Given the description of an element on the screen output the (x, y) to click on. 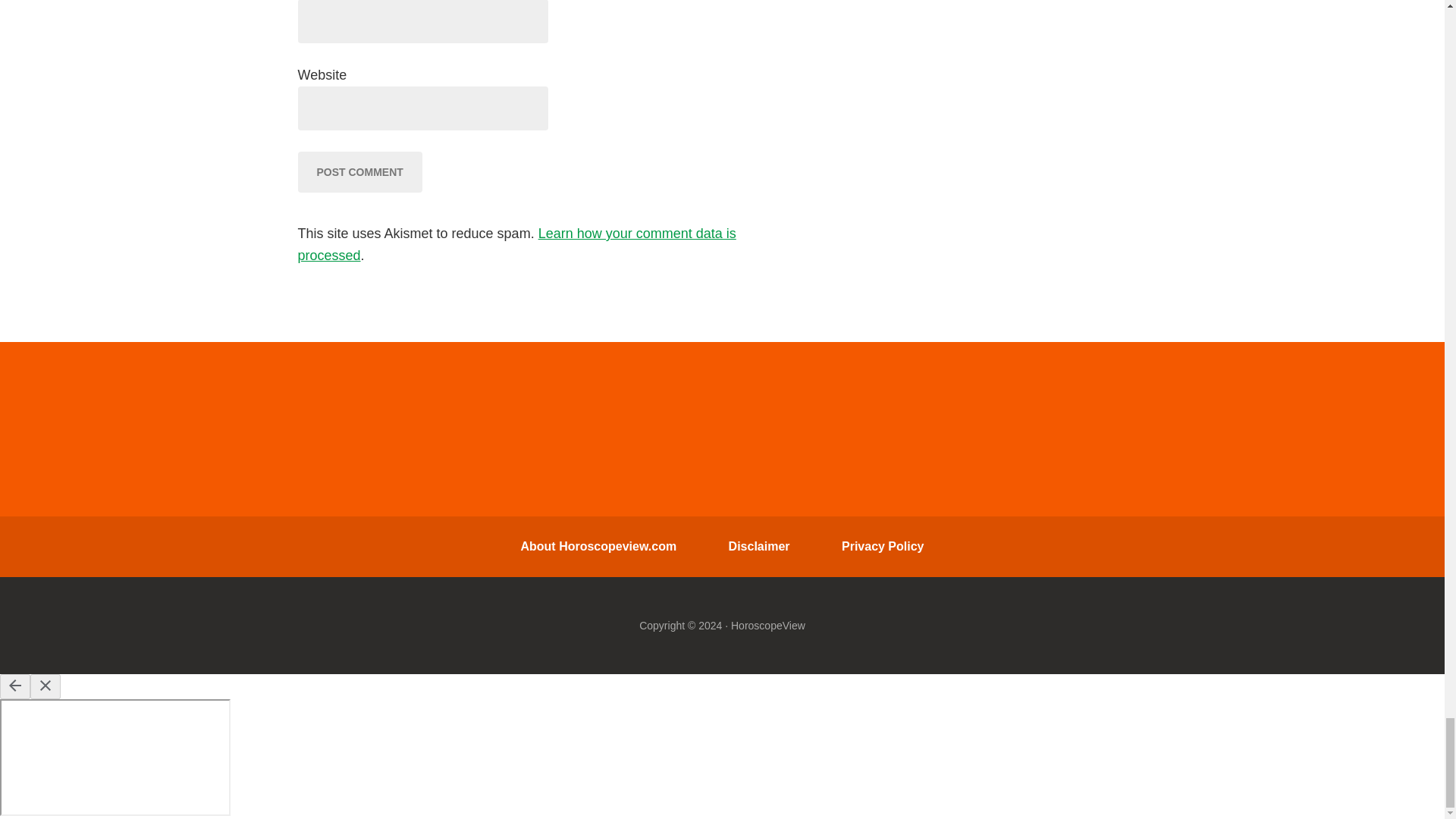
Post Comment (359, 171)
Post Comment (359, 171)
